Given the description of an element on the screen output the (x, y) to click on. 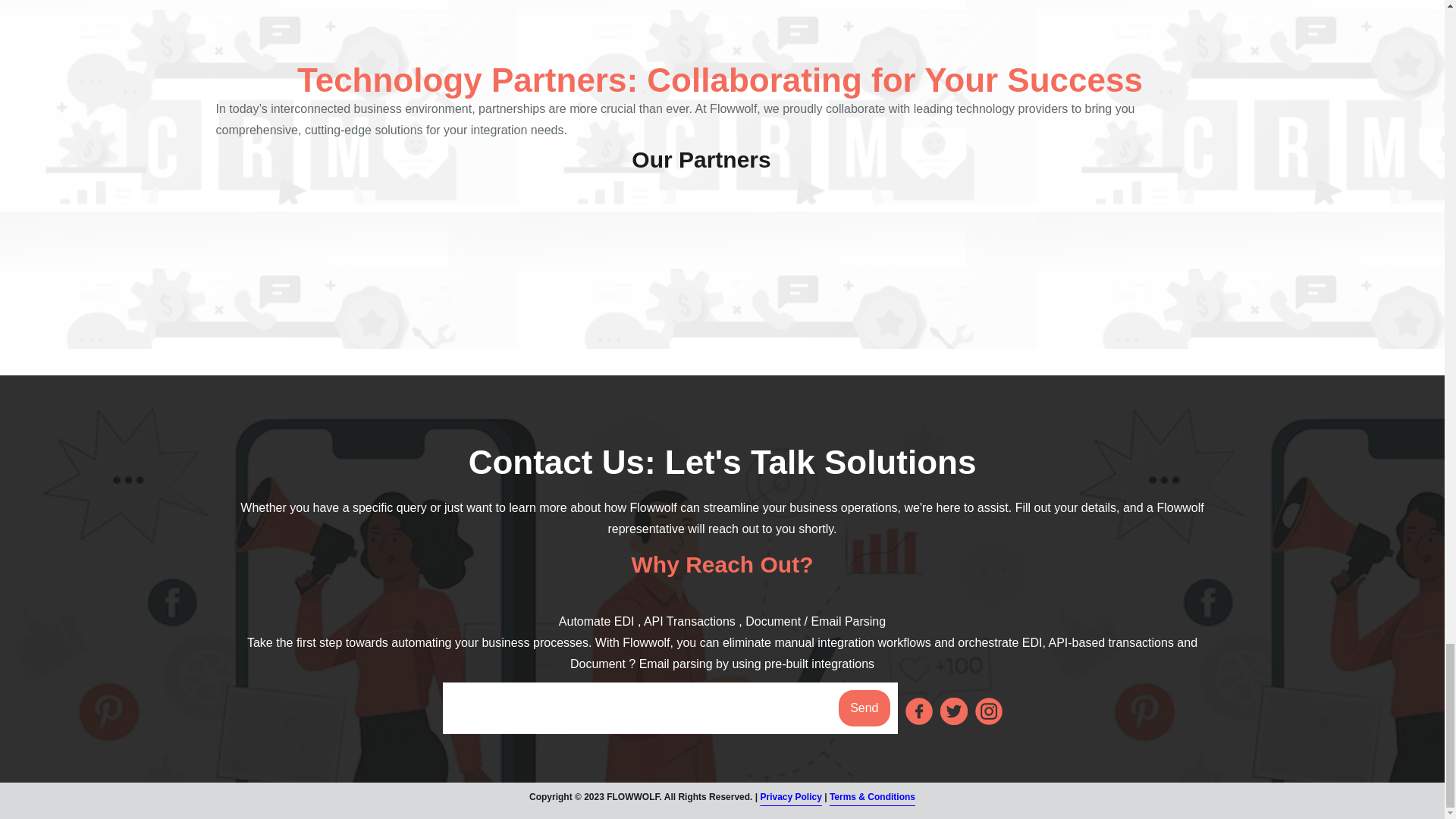
Privacy Policy (790, 800)
Text Link (919, 710)
Send (863, 708)
Text Link (989, 710)
Text Link (954, 710)
Send (863, 708)
